Given the description of an element on the screen output the (x, y) to click on. 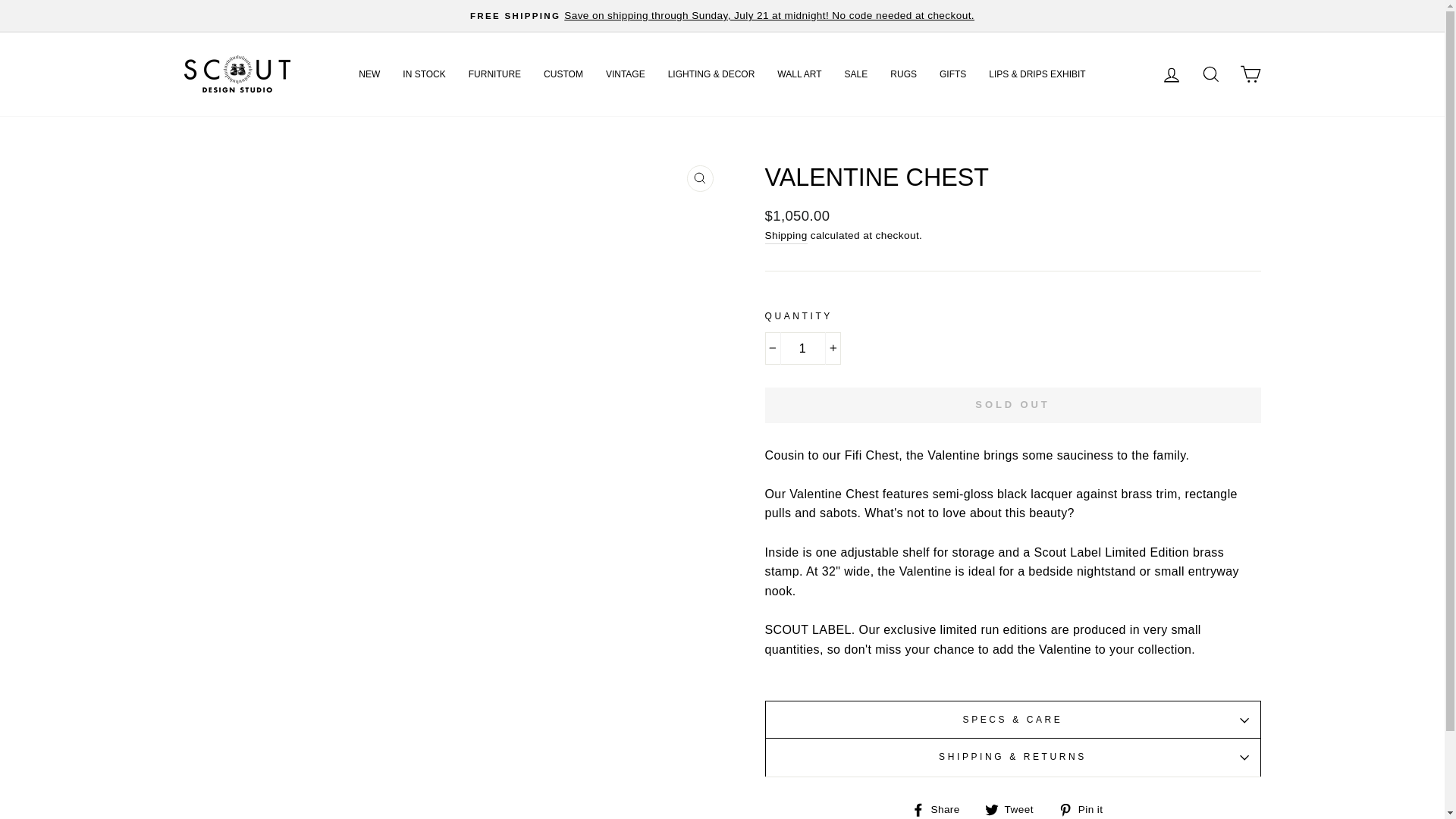
Share on Facebook (941, 809)
Tweet on Twitter (1015, 809)
Pin on Pinterest (1085, 809)
1 (802, 348)
